Given the description of an element on the screen output the (x, y) to click on. 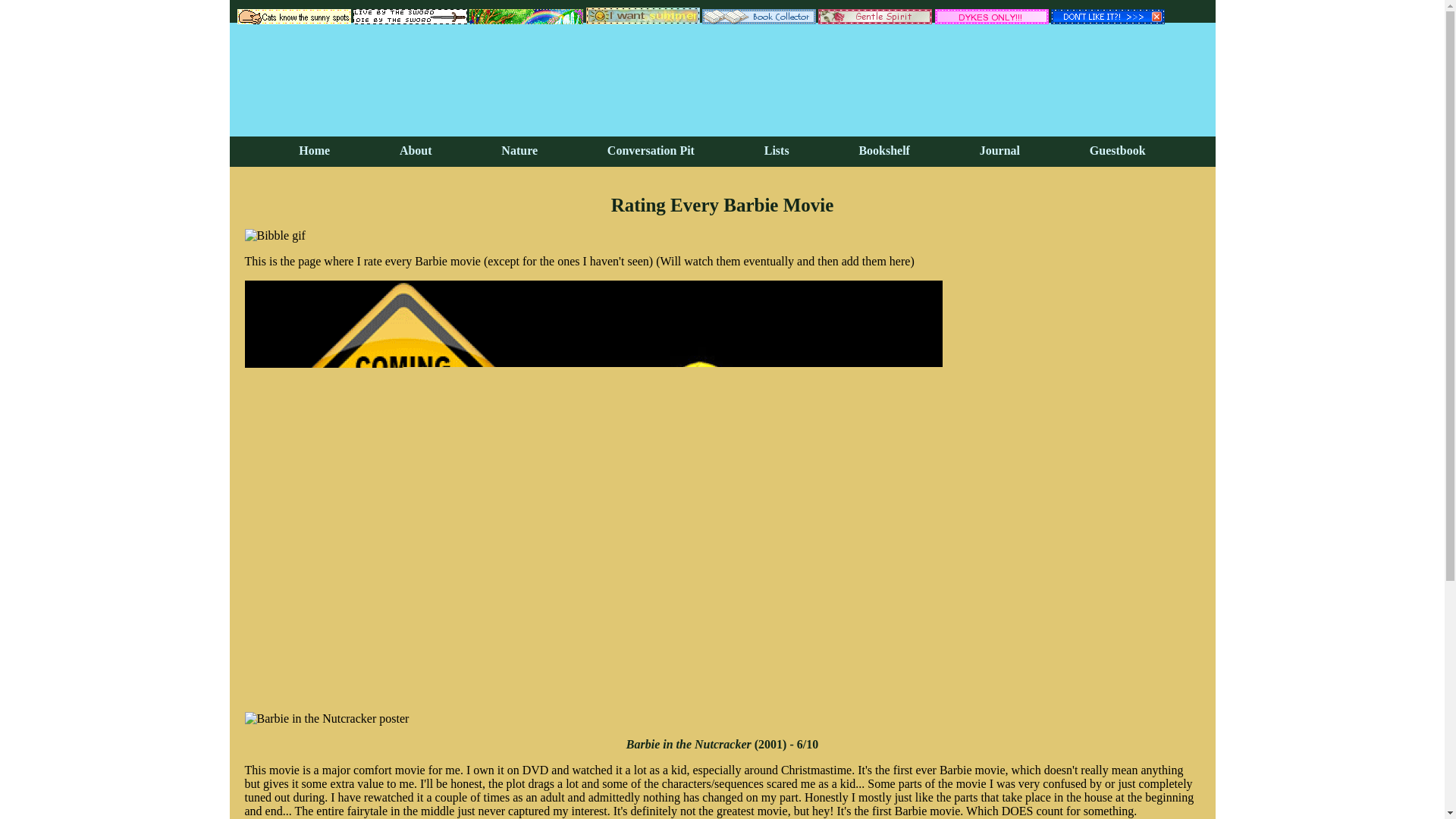
Home (314, 150)
About (415, 150)
Guestbook (1117, 150)
Nature (518, 150)
Lists (776, 150)
Bookshelf (884, 150)
Conversation Pit (650, 150)
Journal (999, 150)
